Given the description of an element on the screen output the (x, y) to click on. 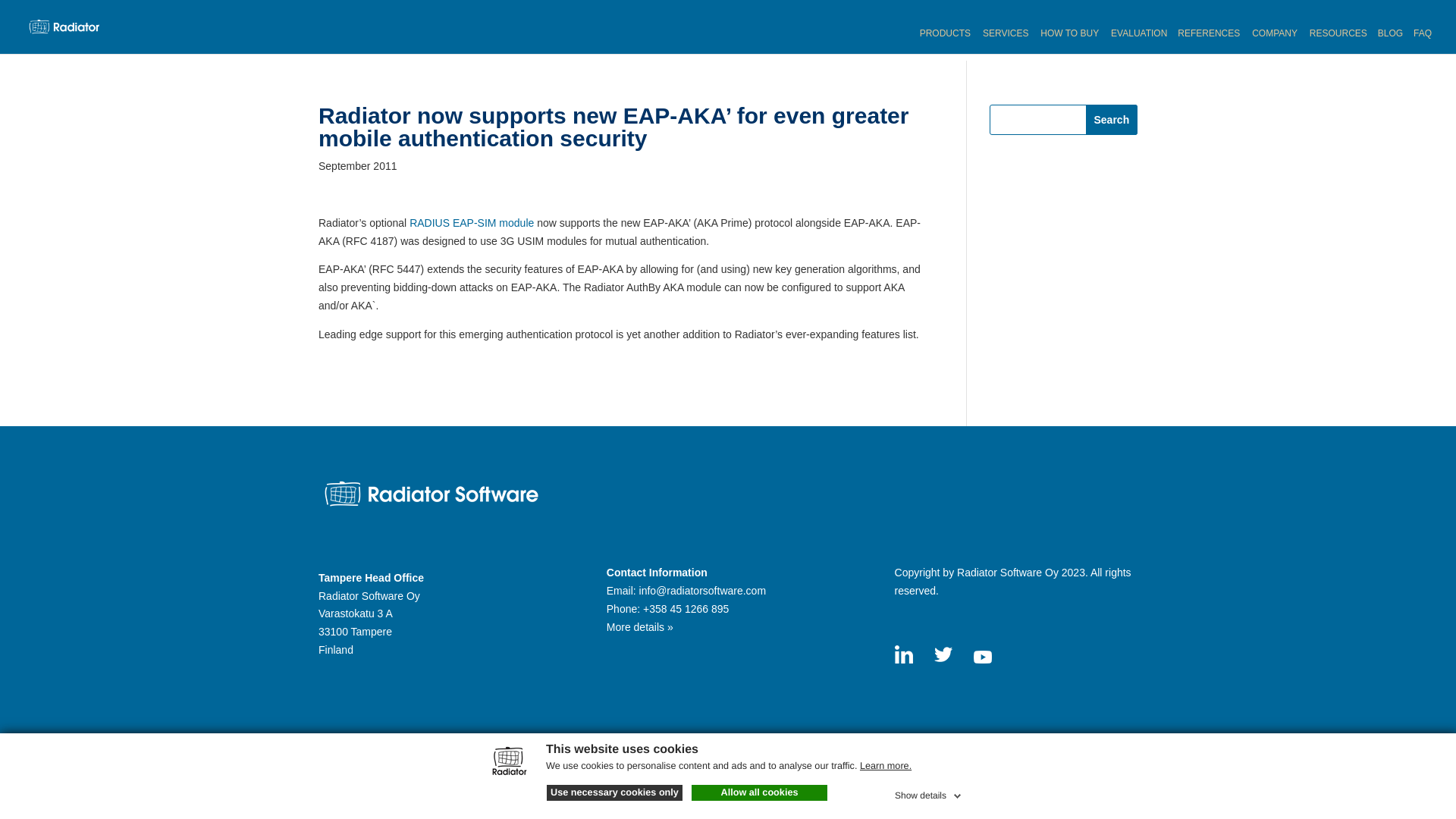
PRODUCTS (946, 40)
Search (1111, 119)
